Given the description of an element on the screen output the (x, y) to click on. 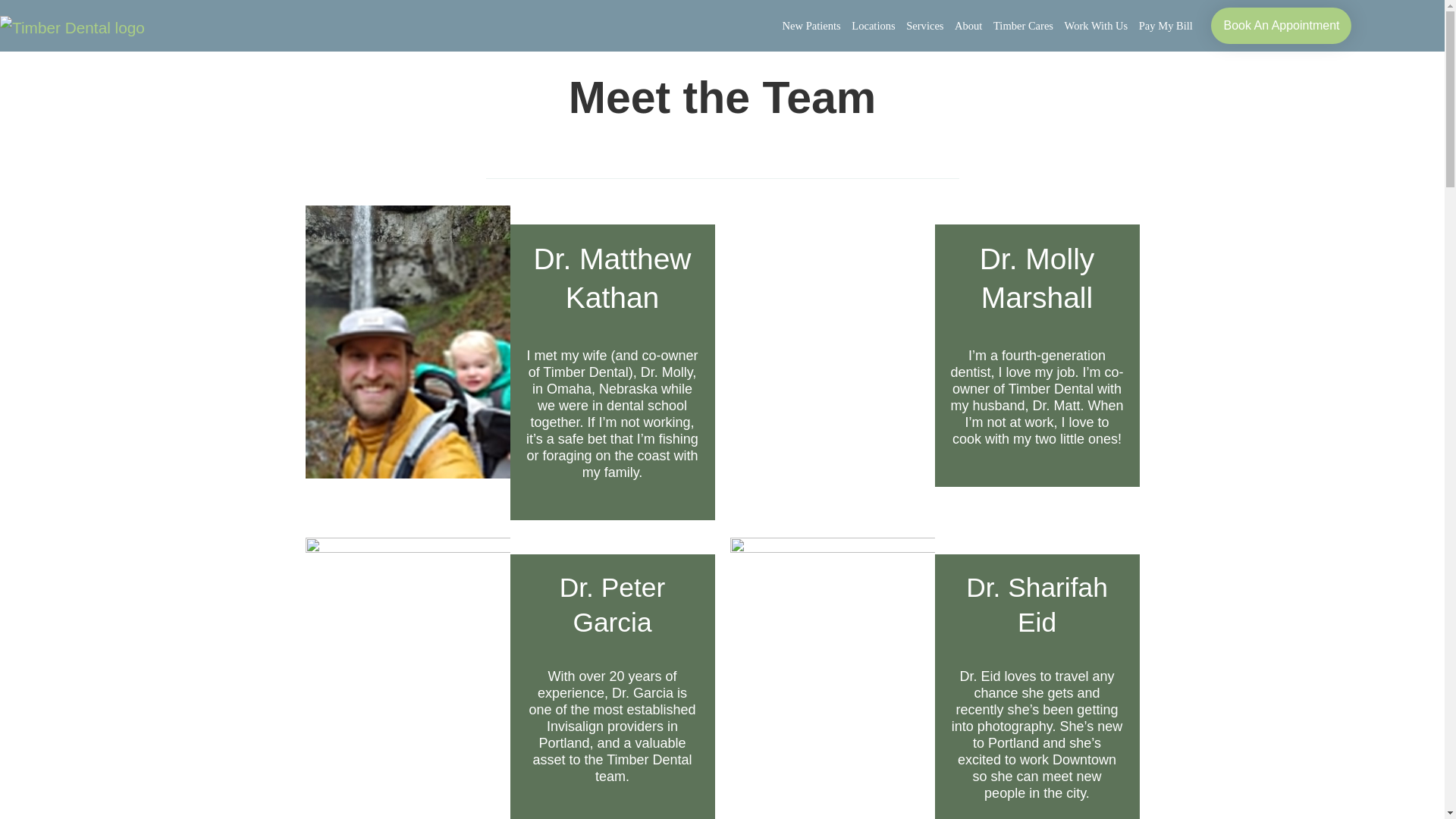
Timber Cares (1028, 25)
New Patients (817, 25)
Locations (878, 25)
Services (930, 25)
Pay My Bill (1171, 25)
Work With Us (1101, 25)
